Given the description of an element on the screen output the (x, y) to click on. 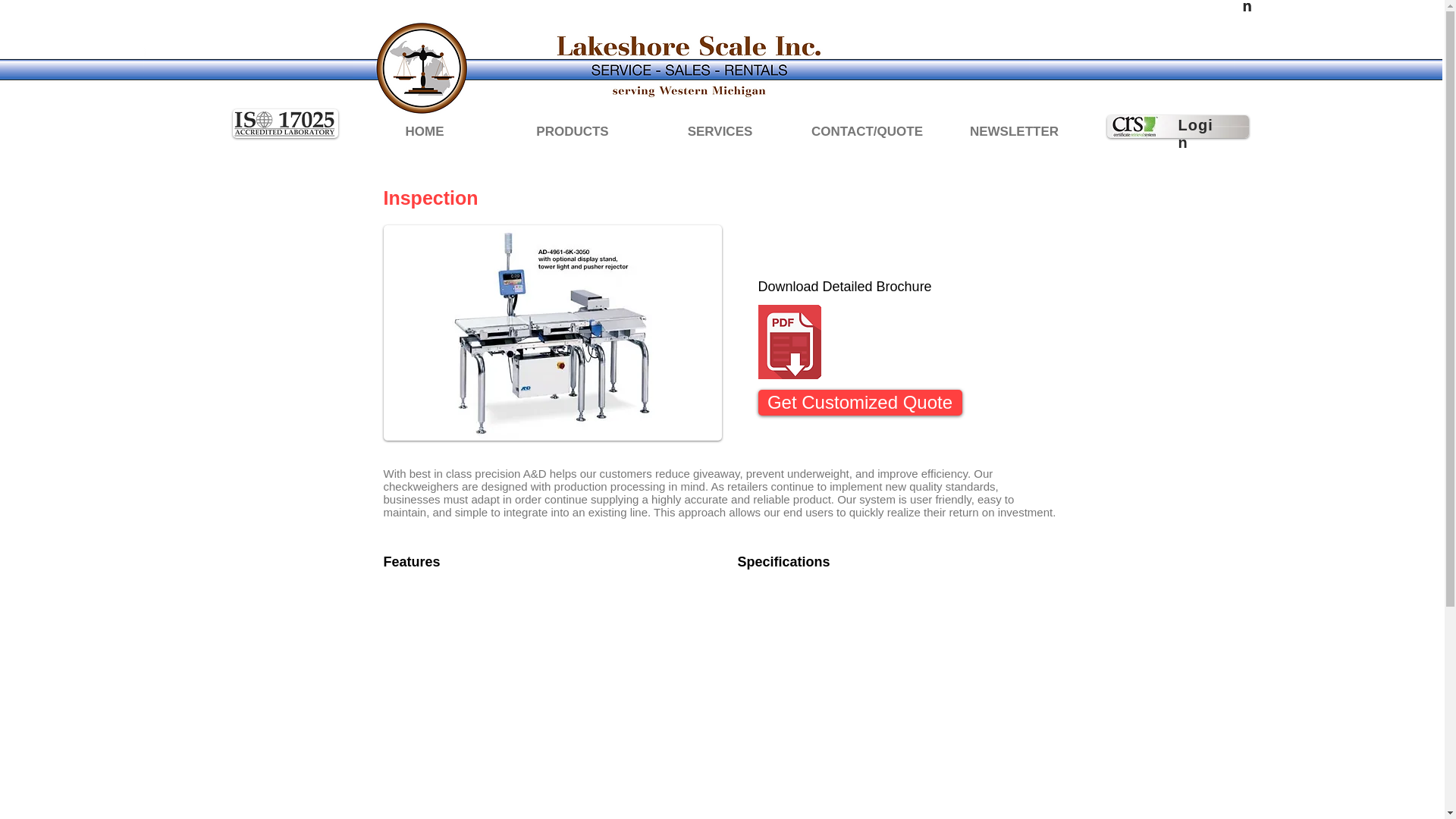
Get Customized Quote (860, 402)
View ISO 17025 Certification (284, 123)
SERVICES (719, 130)
CRS Login (1177, 126)
HOME (423, 130)
Inspection (553, 332)
PRODUCTS (572, 130)
Login (1194, 133)
NEWSLETTER (1013, 130)
